Given the description of an element on the screen output the (x, y) to click on. 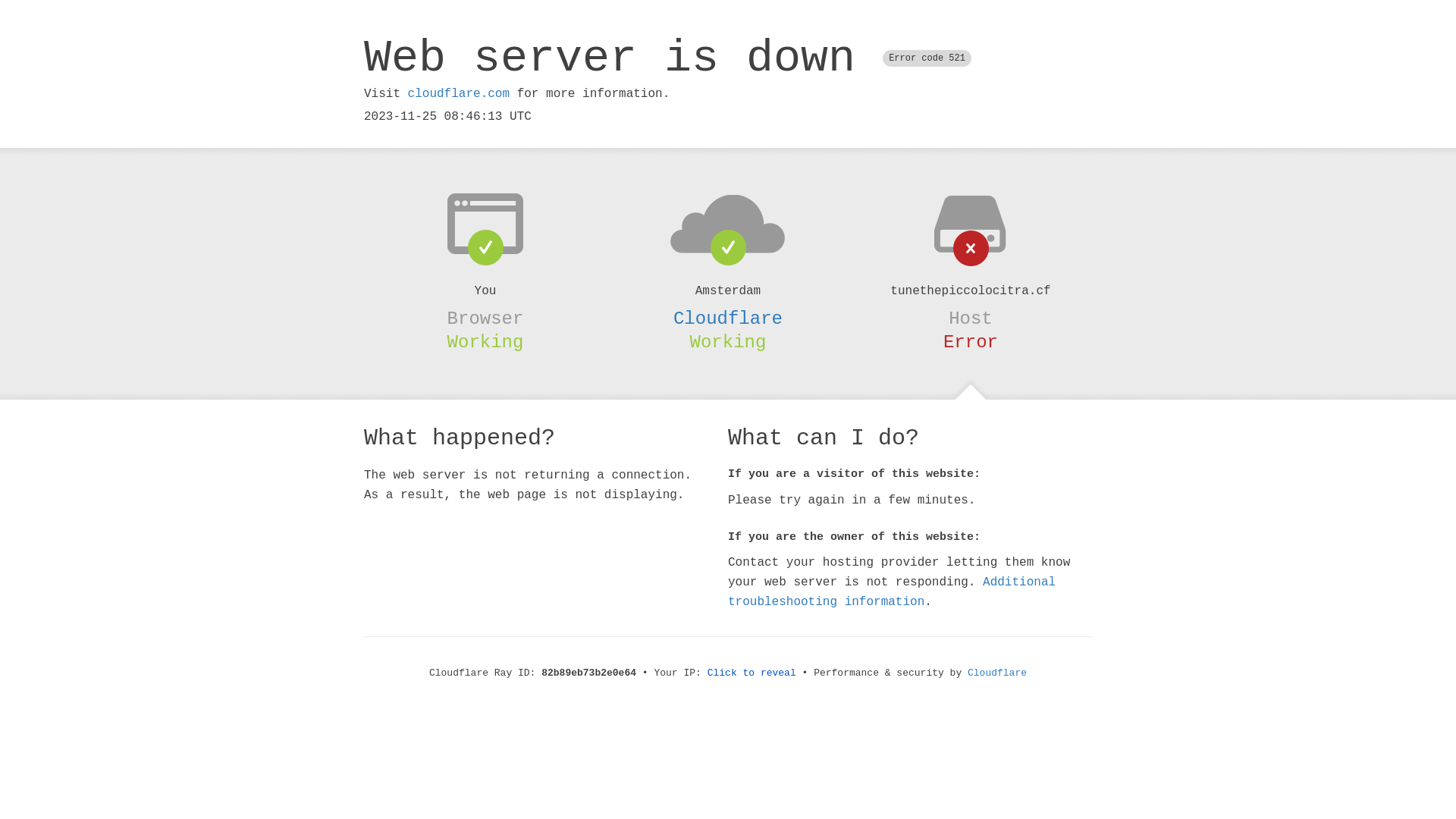
Additional troubleshooting information Element type: text (891, 591)
Cloudflare Element type: text (727, 318)
Click to reveal Element type: text (751, 672)
cloudflare.com Element type: text (458, 93)
Cloudflare Element type: text (996, 672)
